Given the description of an element on the screen output the (x, y) to click on. 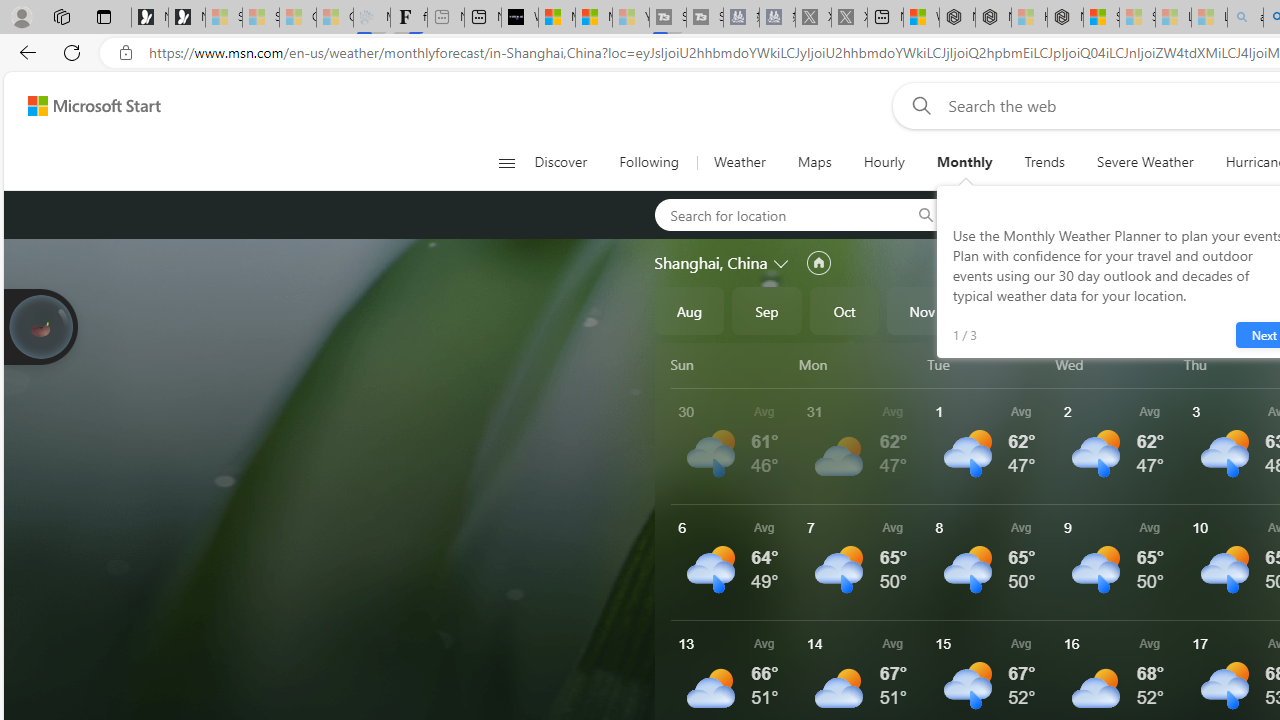
Discover (560, 162)
New tab - Sleeping (445, 17)
Hourly (883, 162)
Severe Weather (1145, 162)
Aug (689, 310)
Web search (917, 105)
2025Jan (1077, 310)
Trends (1044, 162)
Skip to footer (82, 105)
Nov (922, 310)
Nordace - Summer Adventures 2024 (993, 17)
Set as primary location (818, 263)
